Given the description of an element on the screen output the (x, y) to click on. 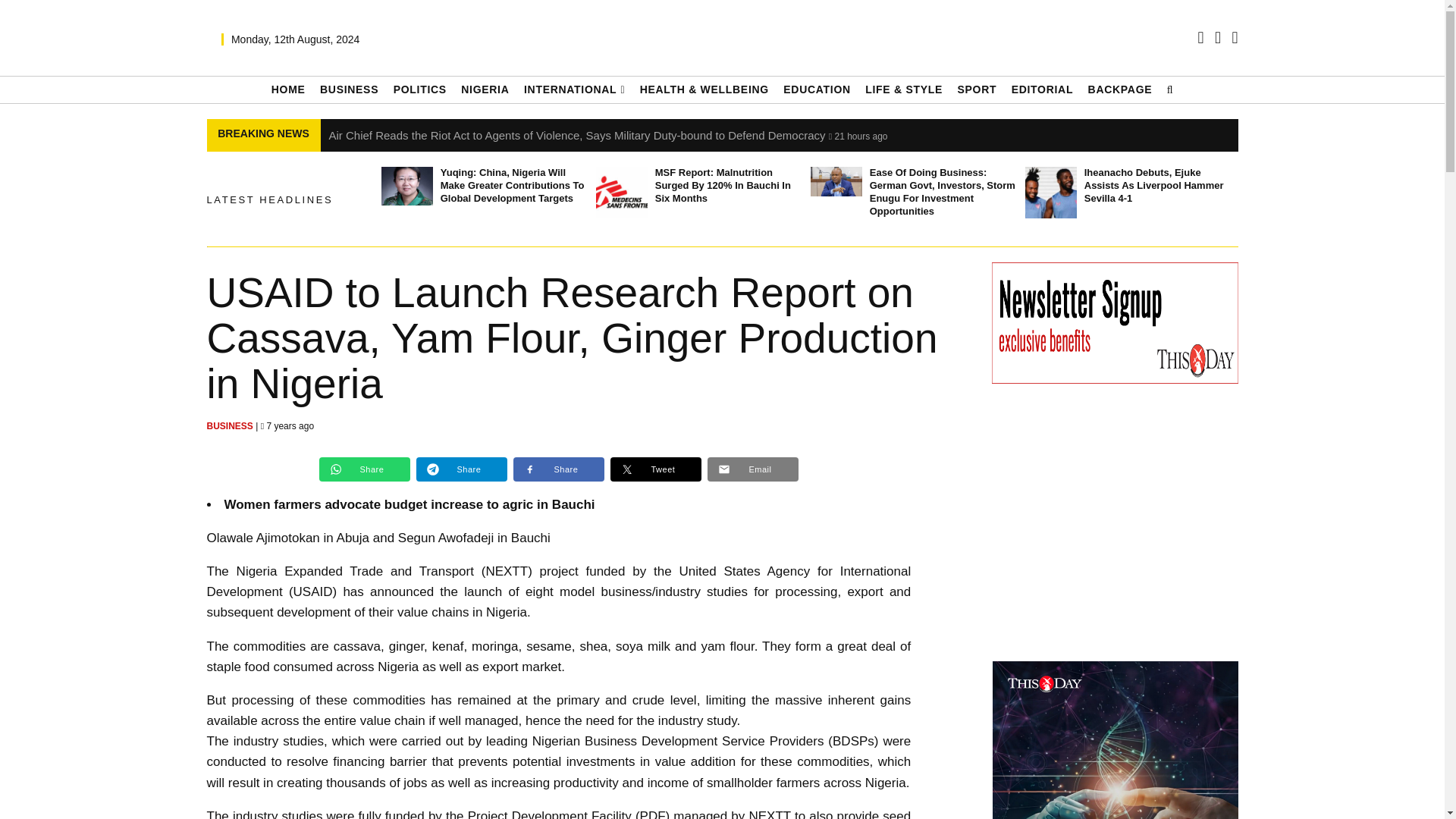
BUSINESS (349, 89)
SPORT (975, 89)
HOME (287, 89)
INTERNATIONAL (574, 89)
POLITICS (419, 89)
NIGERIA (484, 89)
EDITORIAL (1042, 89)
